Given the description of an element on the screen output the (x, y) to click on. 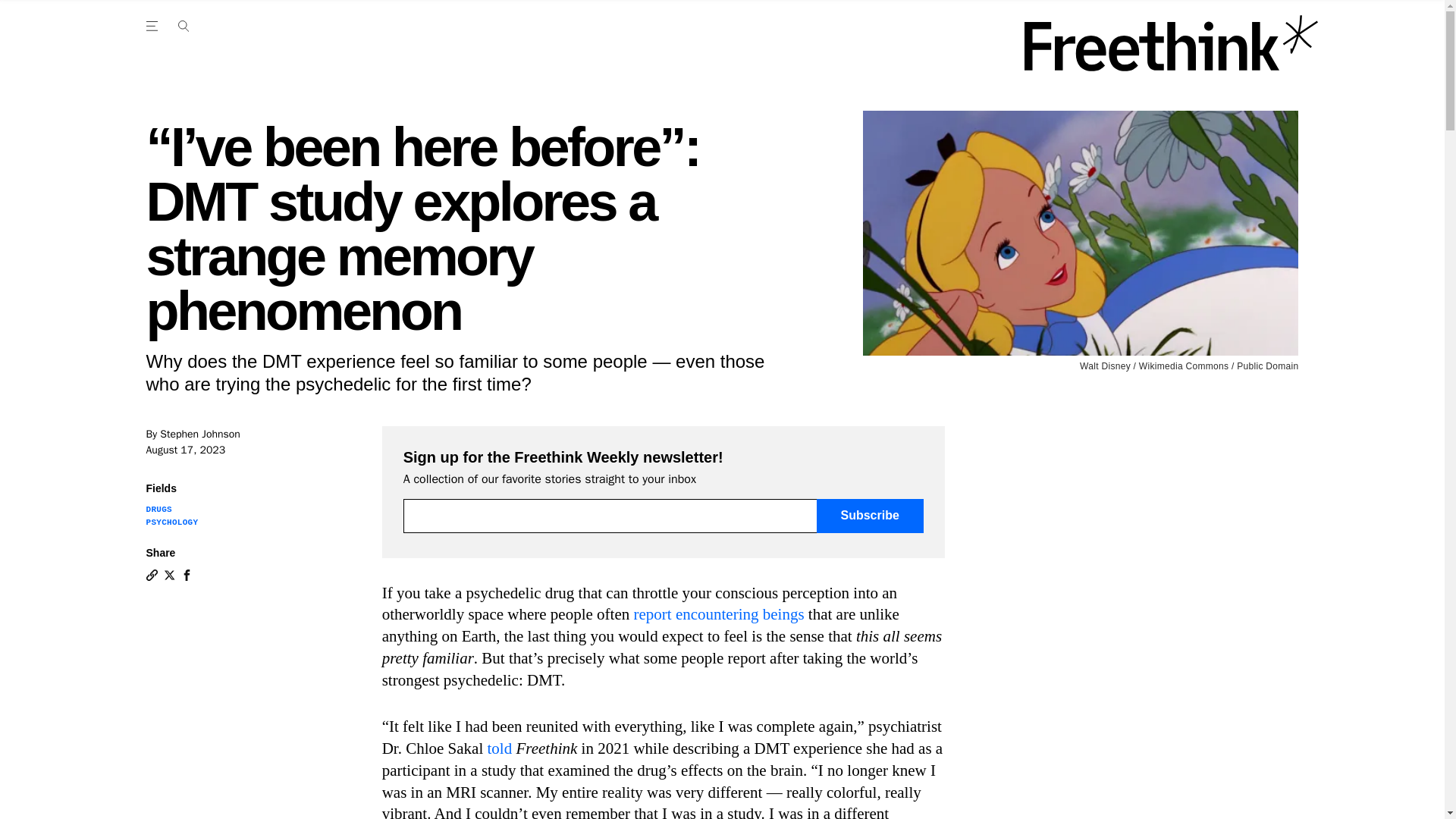
DRUGS (158, 509)
Stephen Johnson (200, 433)
Open the Main Navigation Menu (153, 26)
Subscribe (869, 515)
Open the Main Navigation Menu (182, 26)
PSYCHOLOGY (171, 522)
